Given the description of an element on the screen output the (x, y) to click on. 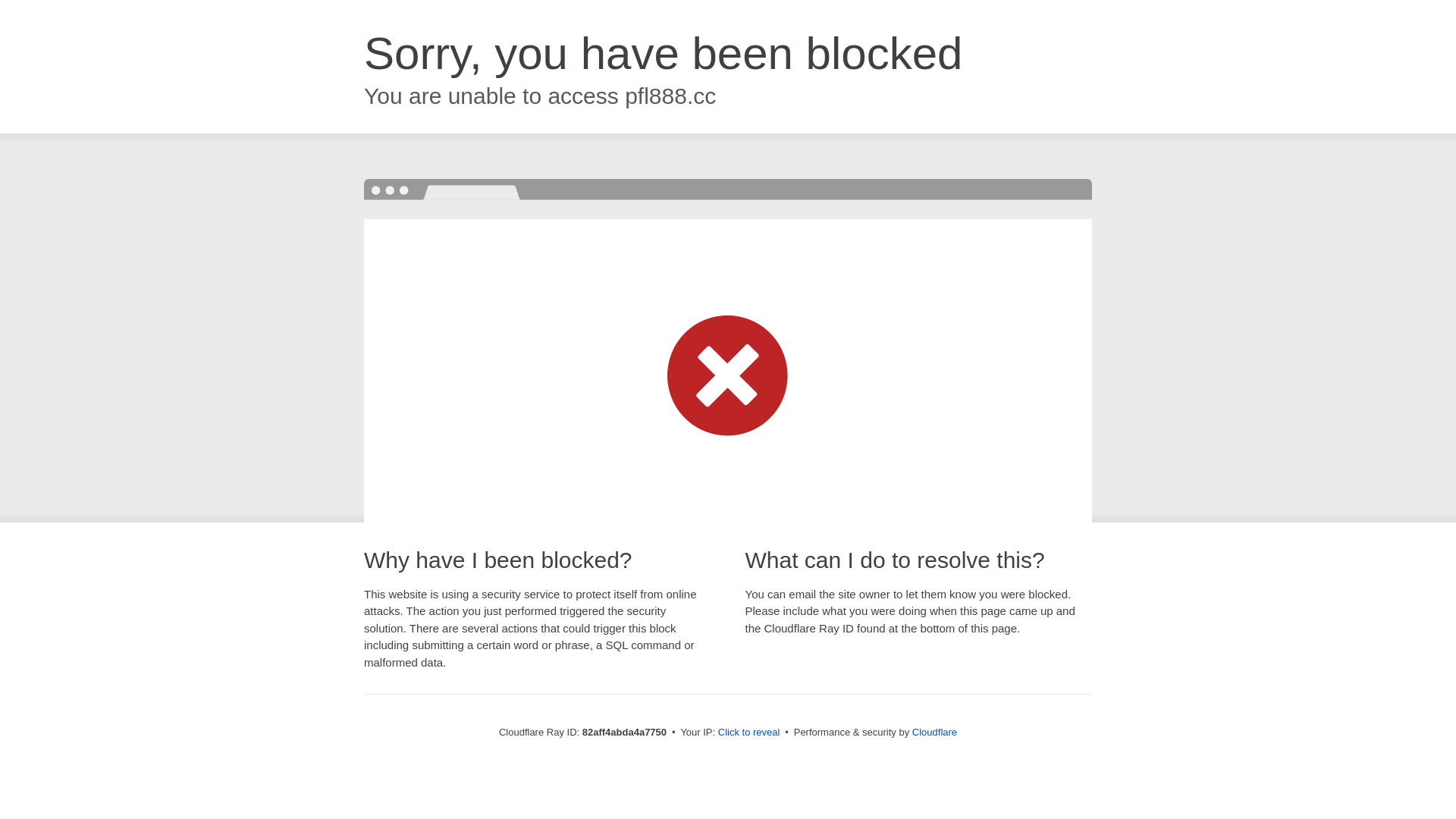
Click to reveal Element type: text (749, 732)
Cloudflare Element type: text (934, 731)
